Given the description of an element on the screen output the (x, y) to click on. 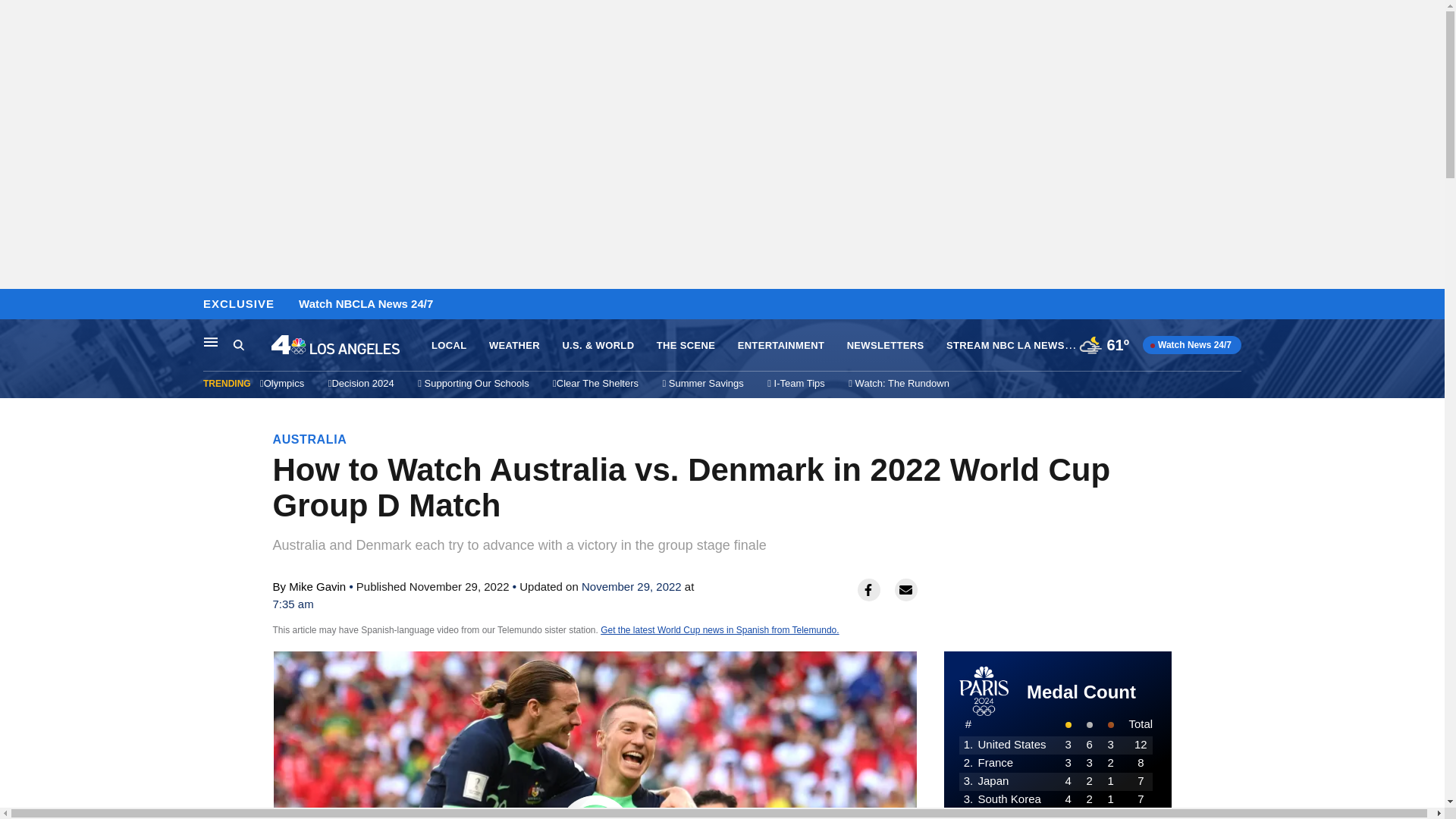
Main Navigation (210, 341)
AUSTRALIA (310, 439)
LOCAL (447, 345)
THE SCENE (685, 345)
Search (252, 345)
NEWSLETTERS (885, 345)
Get the latest World Cup news in Spanish from Telemundo. (718, 629)
WEATHER (514, 345)
ENTERTAINMENT (781, 345)
Skip to content (16, 304)
Search (238, 344)
